Given the description of an element on the screen output the (x, y) to click on. 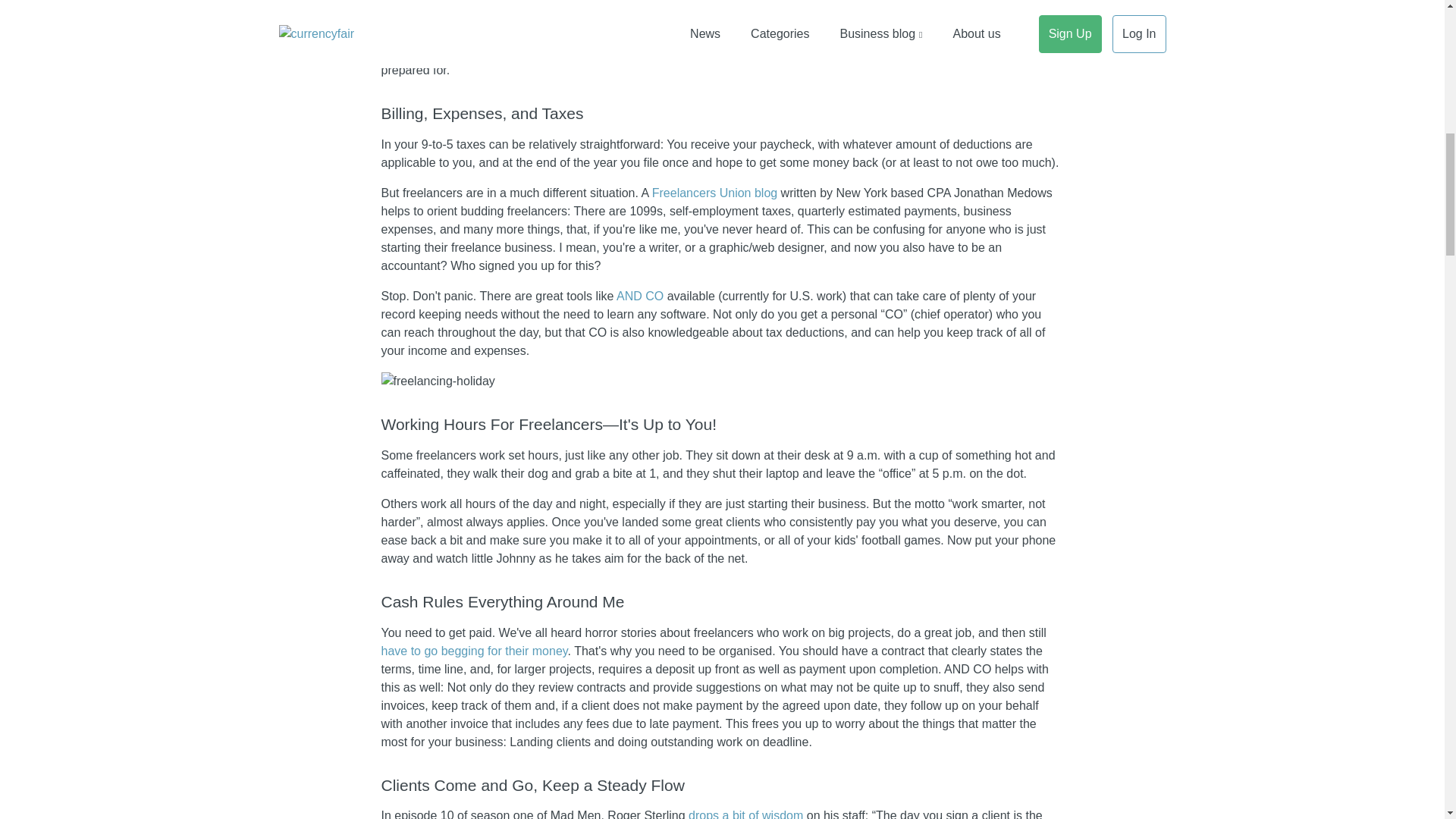
AND CO (639, 295)
have to go begging for their money (473, 650)
drops a bit of wisdom (745, 814)
Freelancers Union blog (714, 192)
